Given the description of an element on the screen output the (x, y) to click on. 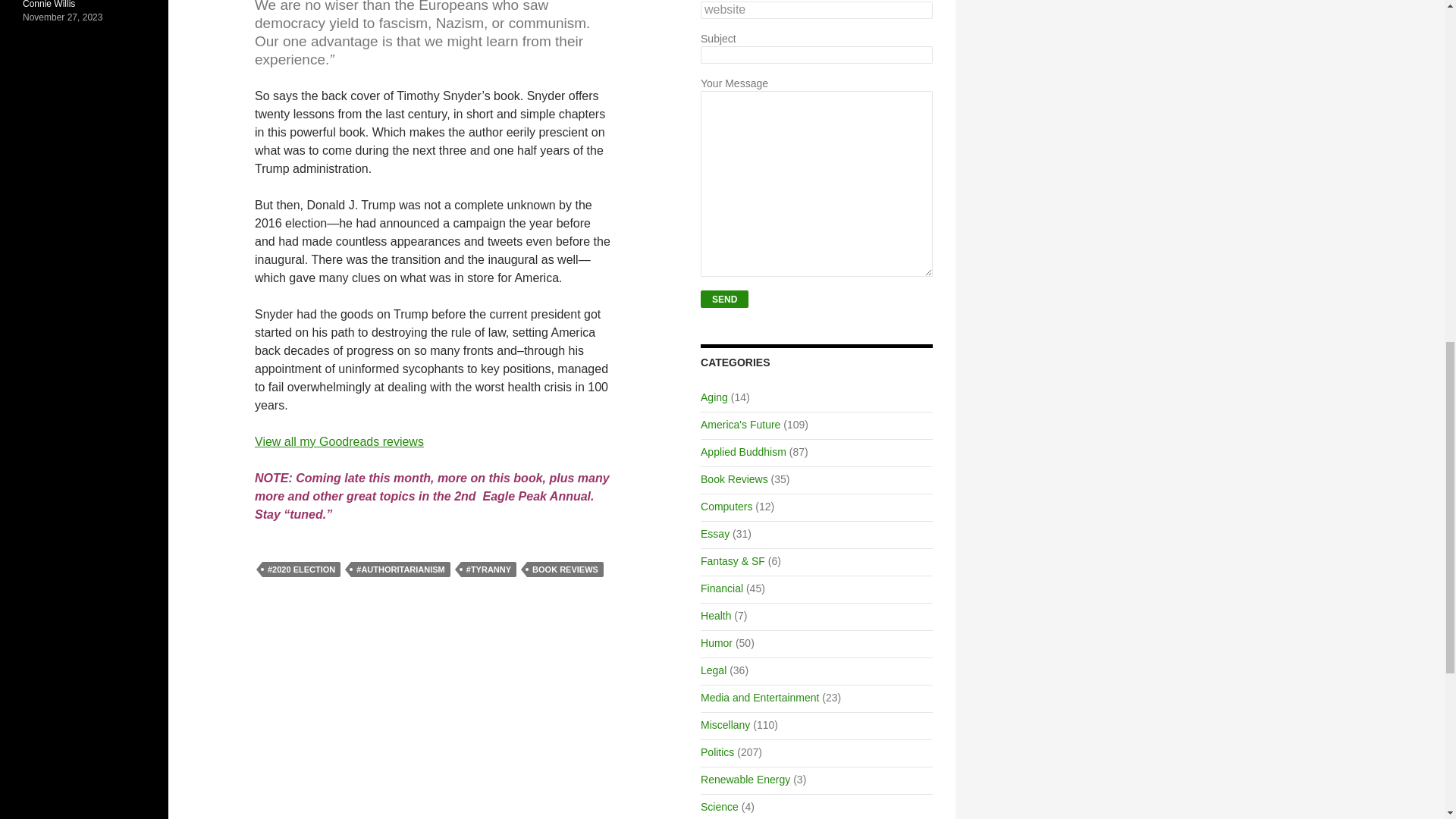
Send (724, 298)
Computers (726, 506)
BOOK REVIEWS (565, 569)
Renewable Energy (745, 779)
Aging (714, 397)
Media and Entertainment (759, 697)
Health (715, 615)
Humor (716, 643)
America's Future (740, 424)
Book Reviews (734, 479)
